Given the description of an element on the screen output the (x, y) to click on. 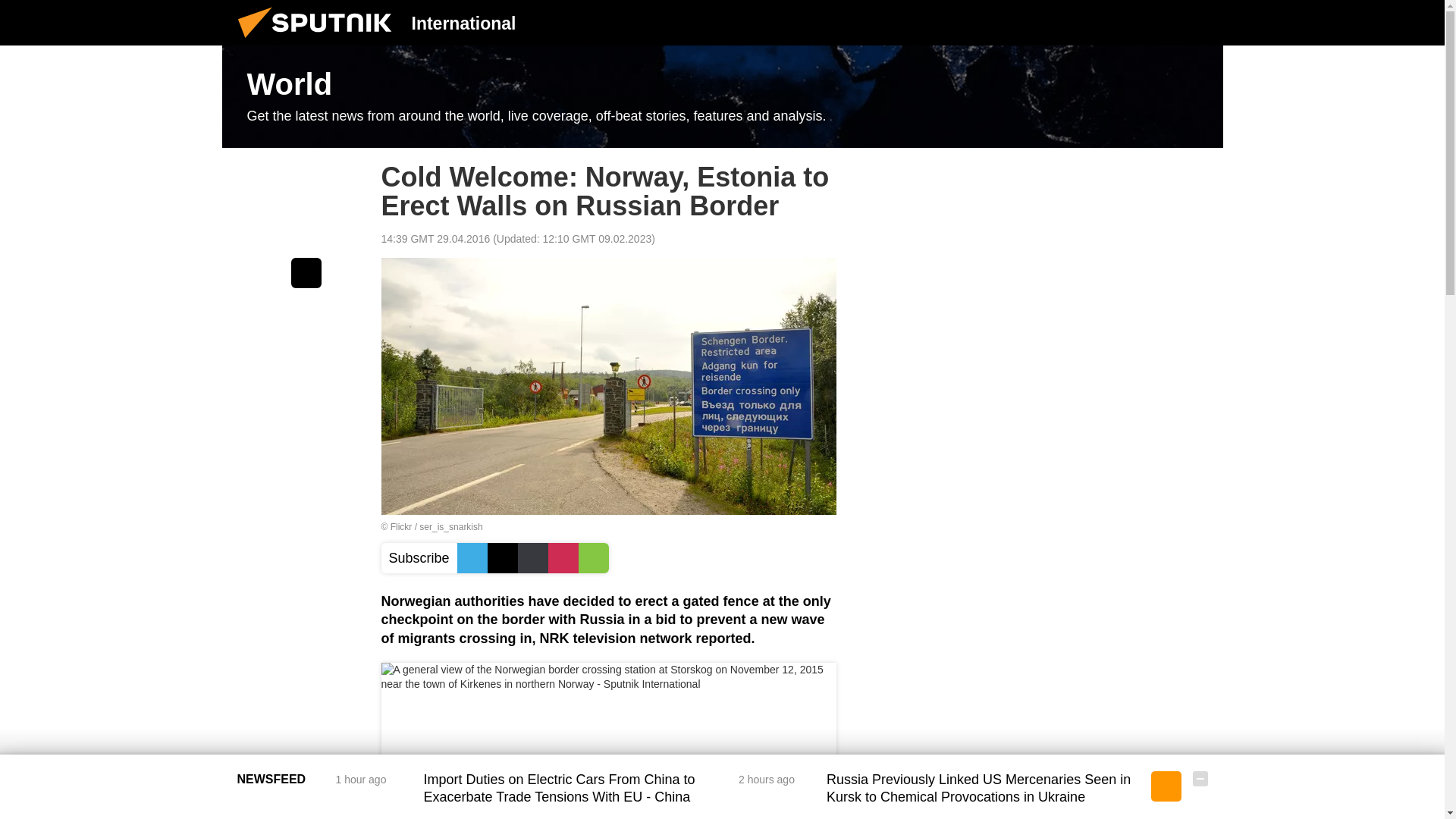
Chats (1199, 22)
Authorization (1123, 22)
World (722, 96)
Sputnik International (319, 41)
